Given the description of an element on the screen output the (x, y) to click on. 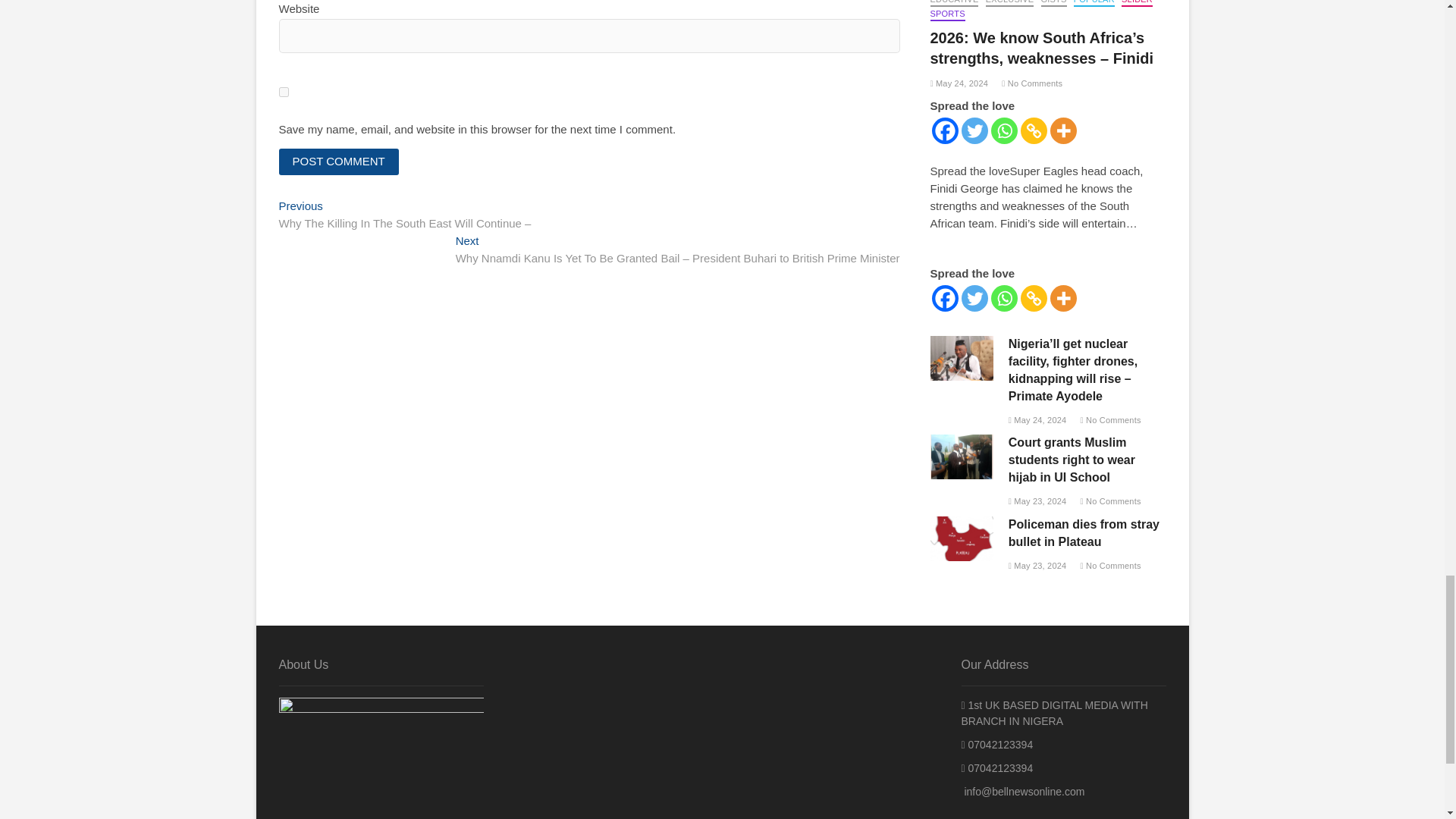
yes (283, 91)
Post Comment (338, 161)
